Given the description of an element on the screen output the (x, y) to click on. 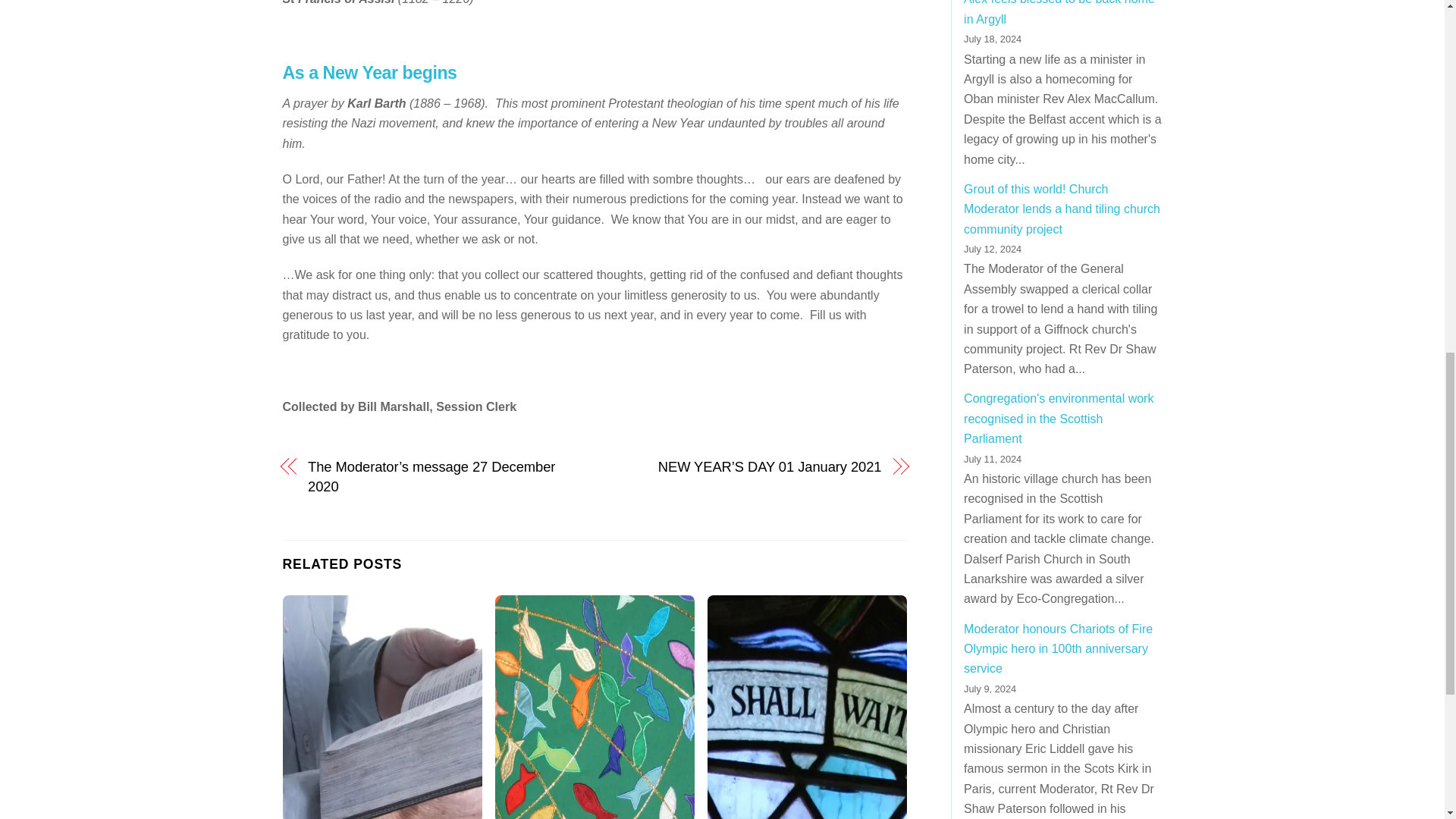
portree-parish-church-bible-reading (381, 707)
portree-parish-church-montage4 (807, 707)
Alex feels blessed to be back home in Argyll (1058, 12)
portree-parish-church-hector-sutherland-pulpit-fall (595, 707)
